Given the description of an element on the screen output the (x, y) to click on. 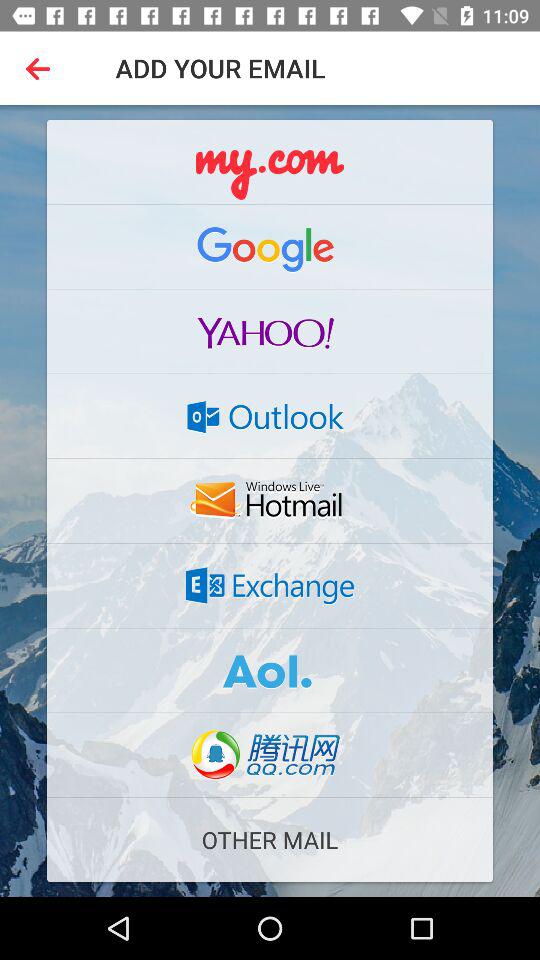
add aol email (269, 670)
